Given the description of an element on the screen output the (x, y) to click on. 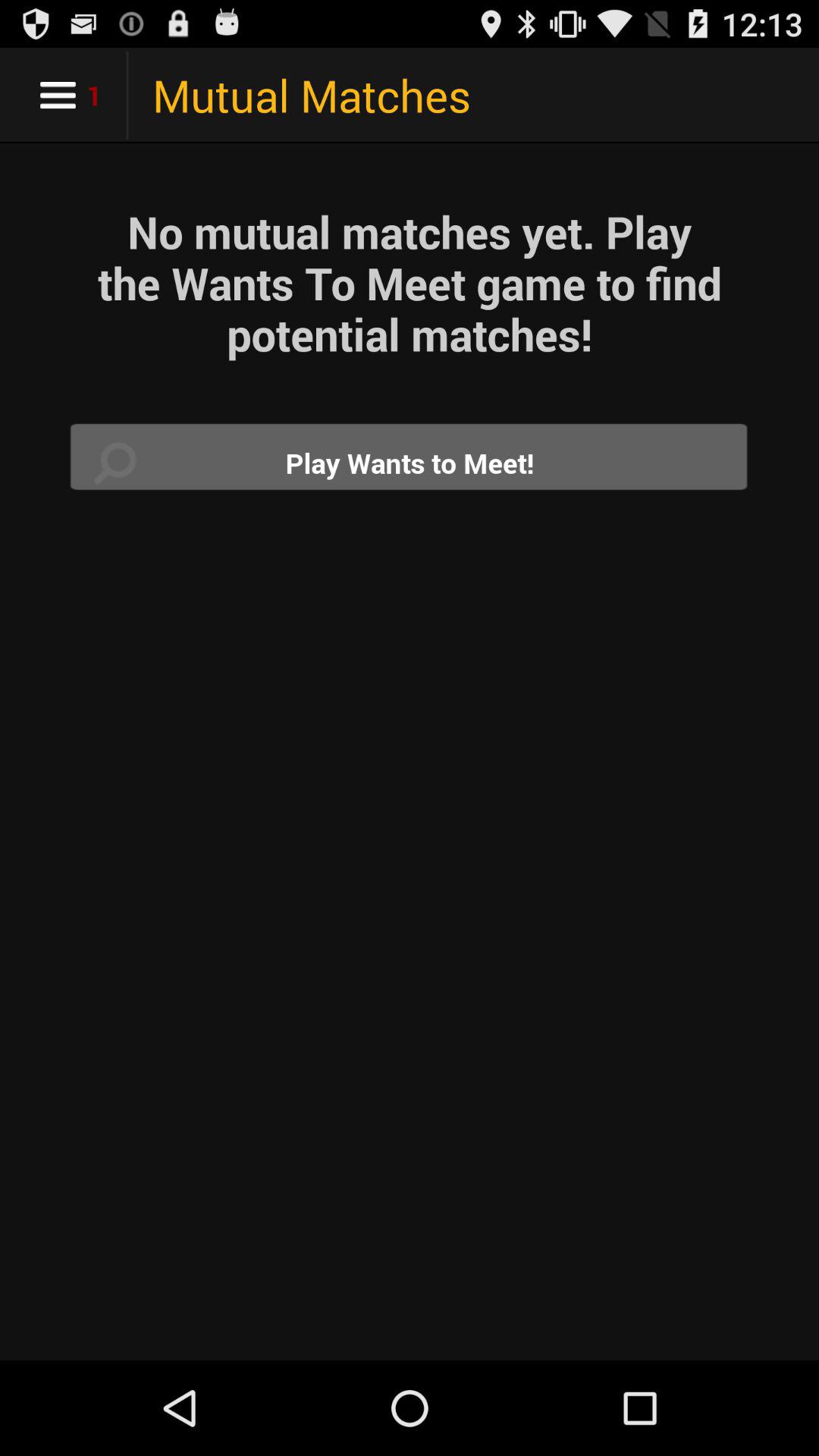
turn on the item below the no mutual matches (409, 462)
